Given the description of an element on the screen output the (x, y) to click on. 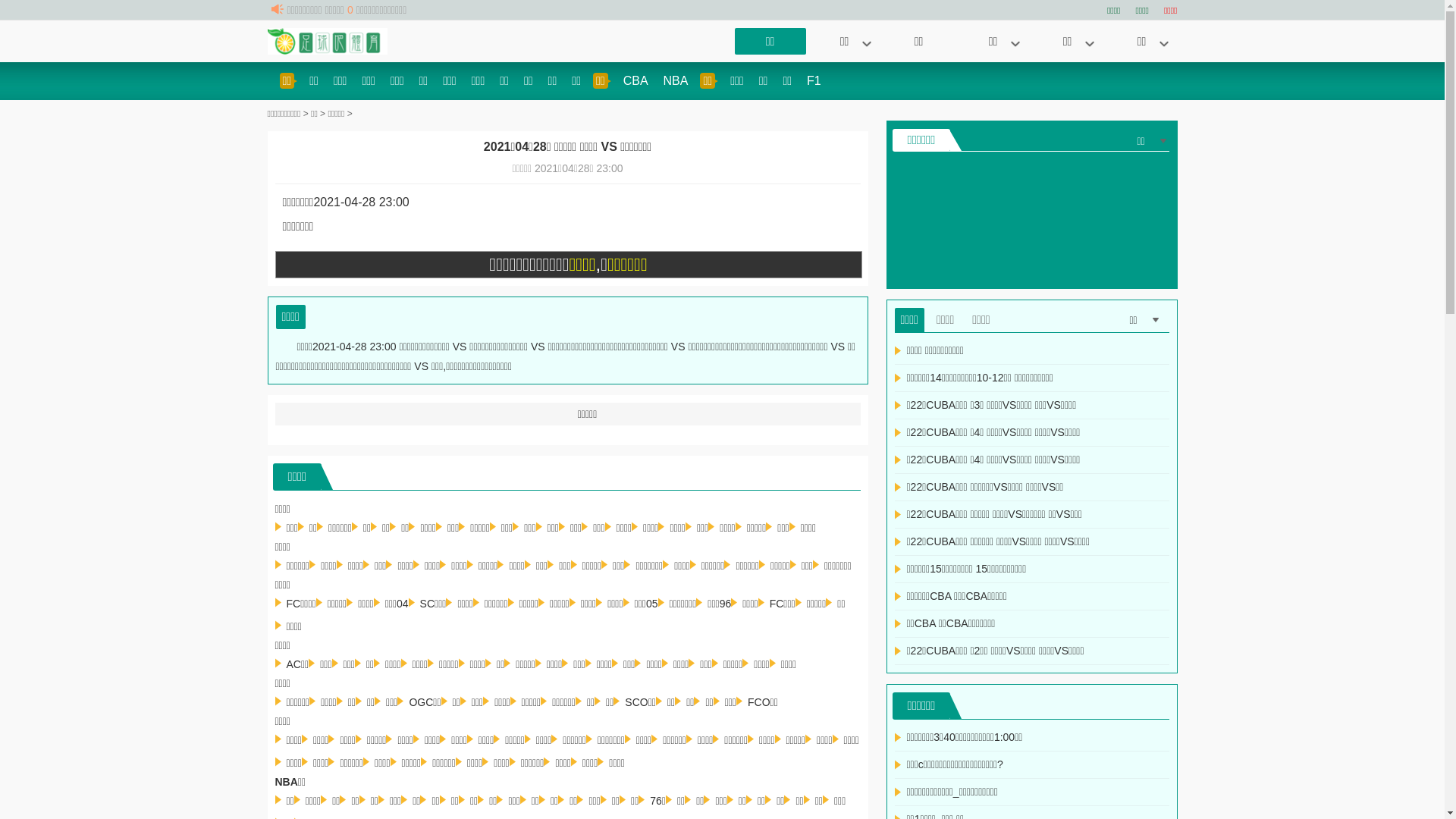
CBA Element type: text (635, 80)
F1 Element type: text (813, 80)
NBA Element type: text (675, 80)
